Given the description of an element on the screen output the (x, y) to click on. 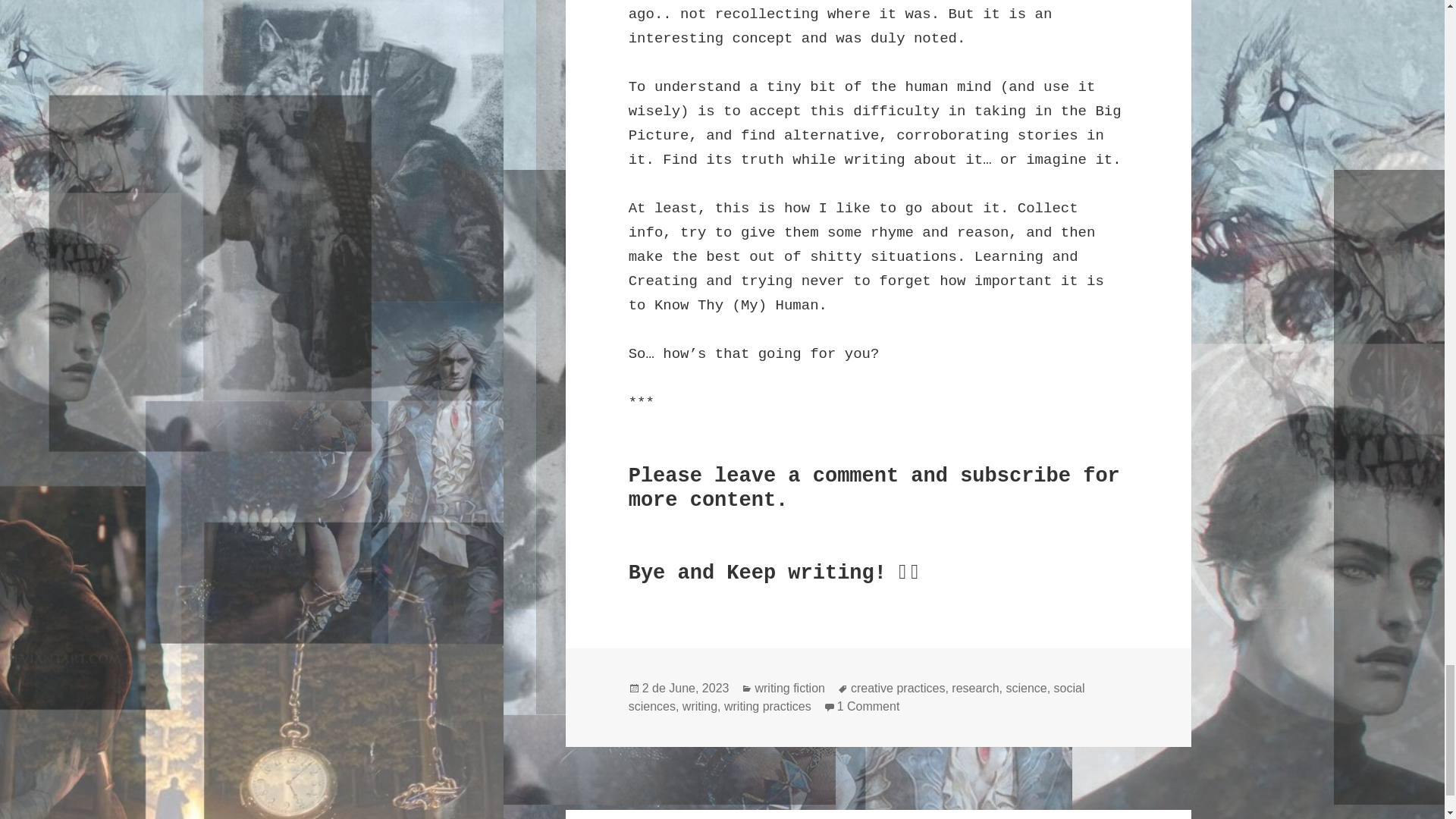
science (1026, 688)
creative practices (897, 688)
2 de June, 2023 (868, 706)
social sciences (685, 688)
writing (856, 697)
research (699, 706)
writing fiction (975, 688)
writing practices (789, 688)
